Given the description of an element on the screen output the (x, y) to click on. 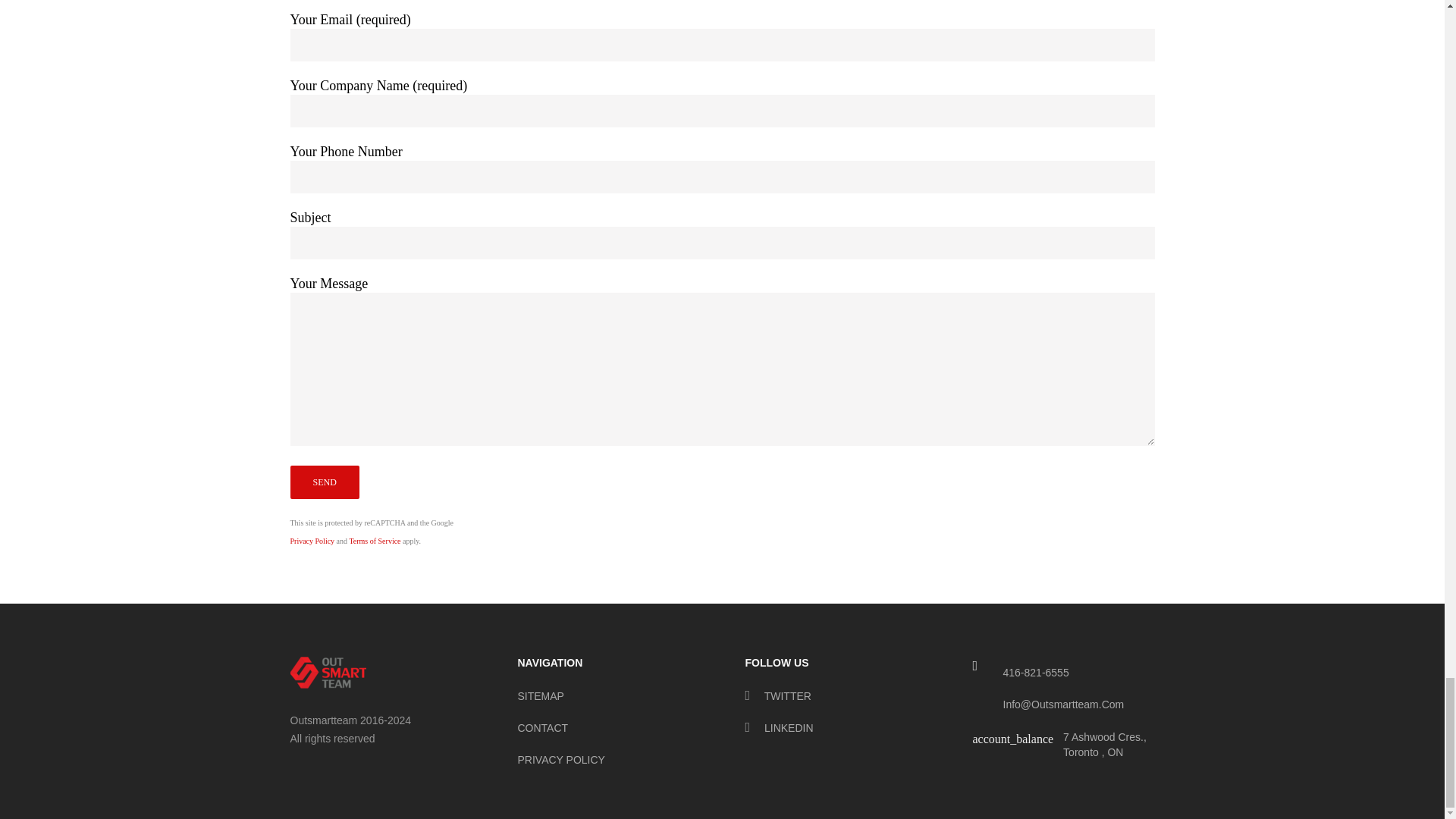
Send (323, 482)
